Given the description of an element on the screen output the (x, y) to click on. 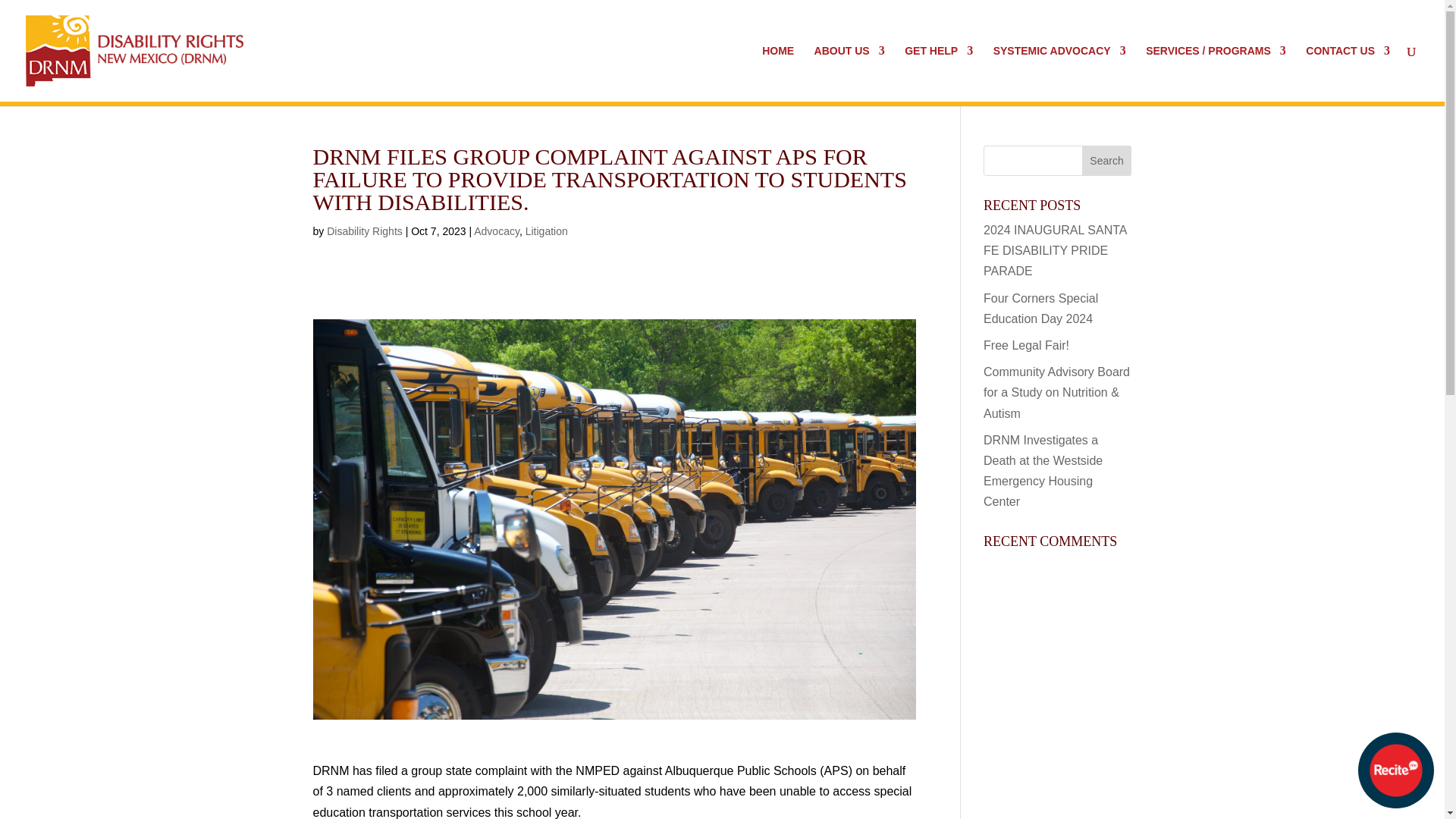
SYSTEMIC ADVOCACY (1058, 73)
Launch Recite Me (1396, 769)
ABOUT US (849, 73)
Posts by Disability Rights (364, 231)
GET HELP (938, 73)
CONTACT US (1348, 73)
Launch Recite Me (1396, 770)
Search (1106, 160)
